Given the description of an element on the screen output the (x, y) to click on. 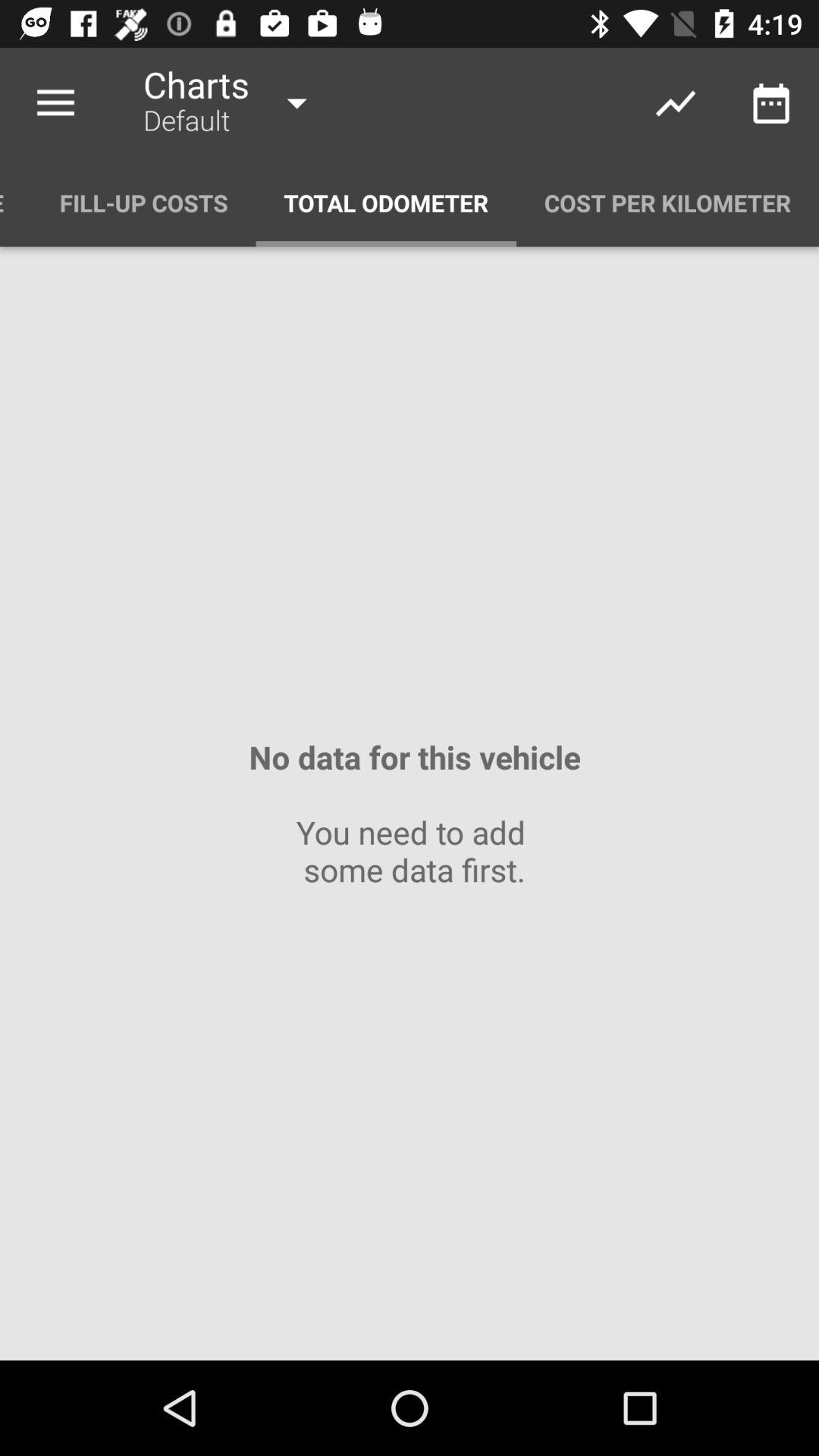
swipe until the fill-up costs item (143, 202)
